Given the description of an element on the screen output the (x, y) to click on. 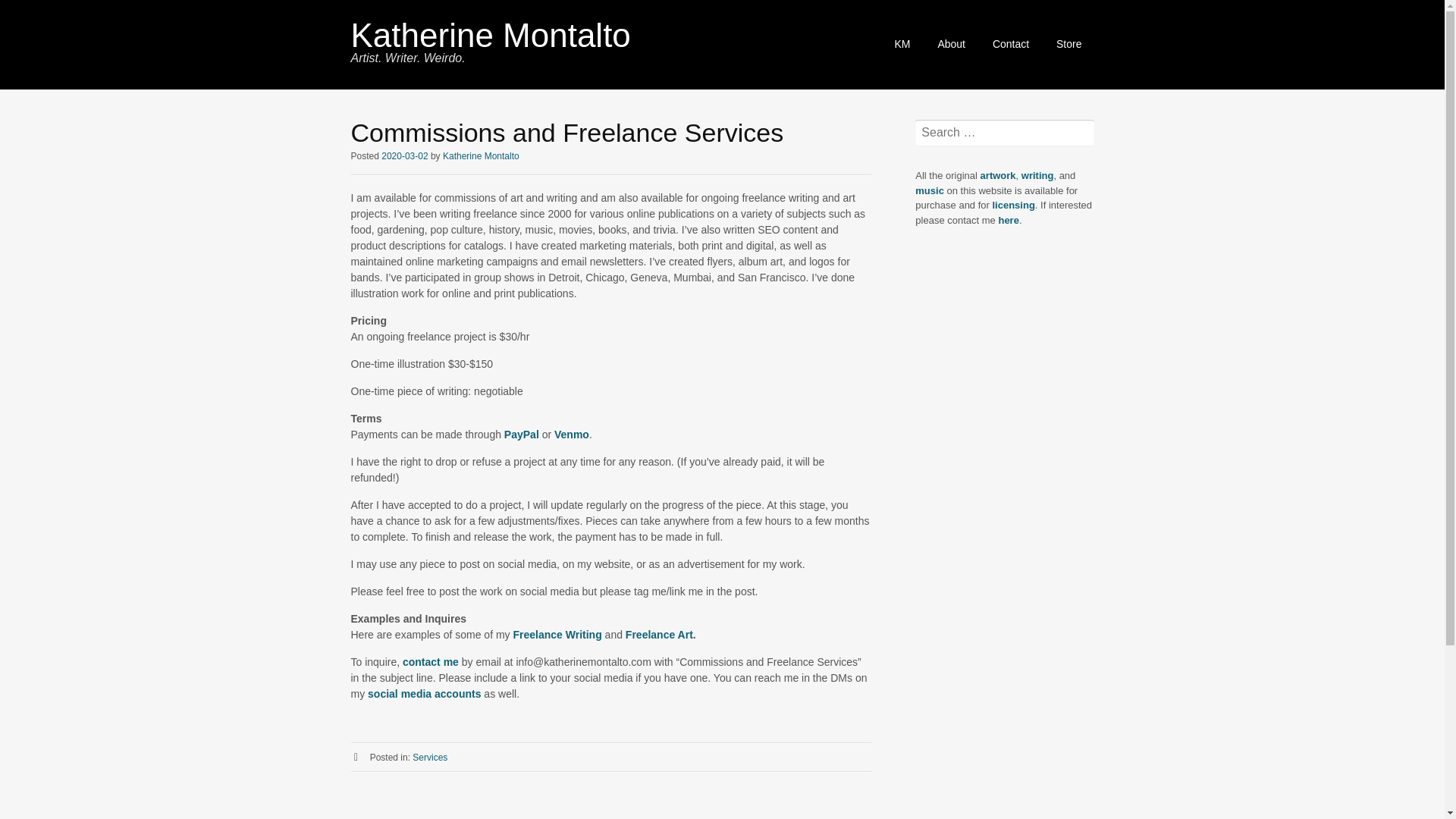
music (930, 190)
Services (429, 757)
2020-03-02 (404, 155)
Venmo (571, 434)
About (951, 44)
writing (1038, 174)
artwork (997, 174)
Store (1068, 44)
View all posts by Katherine Montalto (480, 155)
Freelance Art (659, 634)
Search (33, 12)
KM (902, 44)
contact me (430, 662)
PayPal (522, 434)
Skip to content (894, 36)
